Given the description of an element on the screen output the (x, y) to click on. 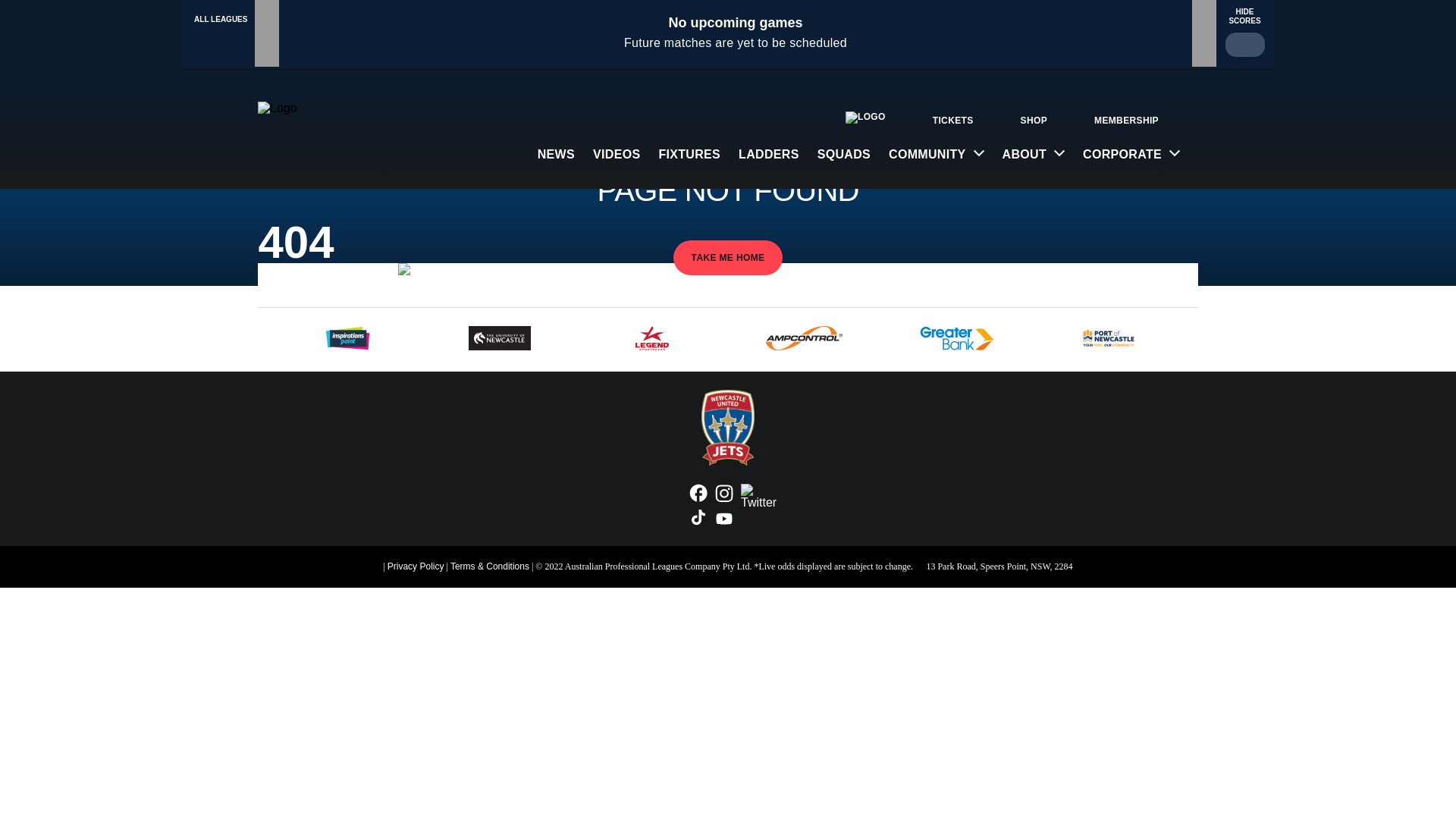
MEMBERSHIP Element type: text (1123, 119)
COMMUNITY Element type: text (936, 154)
ABOUT Element type: text (1033, 154)
TICKETS Element type: text (950, 119)
TAKE ME HOME Element type: text (728, 257)
Privacy Policy Element type: text (415, 566)
SQUADS Element type: text (843, 154)
FIXTURES Element type: text (689, 154)
Terms & Conditions Element type: text (489, 566)
SEARCH Element type: text (1188, 119)
CORPORATE Element type: text (1130, 154)
VIDEOS Element type: text (616, 154)
NEWS Element type: text (555, 154)
LADDERS Element type: text (768, 154)
SHOP Element type: text (1031, 119)
